Given the description of an element on the screen output the (x, y) to click on. 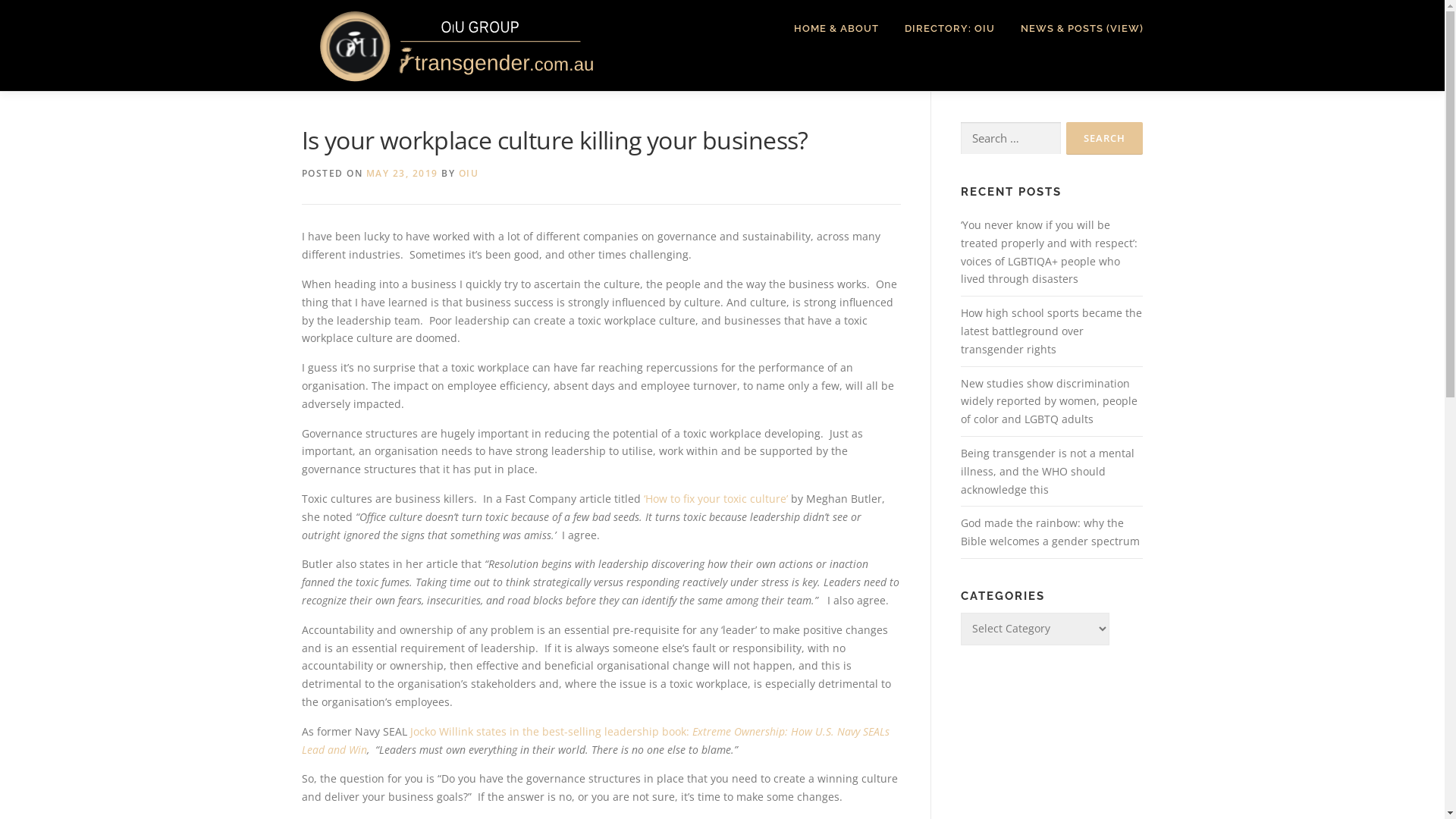
NEWS & POSTS (VIEW) Element type: text (1074, 28)
HOME & ABOUT Element type: text (836, 28)
MAY 23, 2019 Element type: text (401, 172)
DIRECTORY: OIU Element type: text (949, 28)
Search Element type: text (1104, 138)
OIU Element type: text (468, 172)
